Given the description of an element on the screen output the (x, y) to click on. 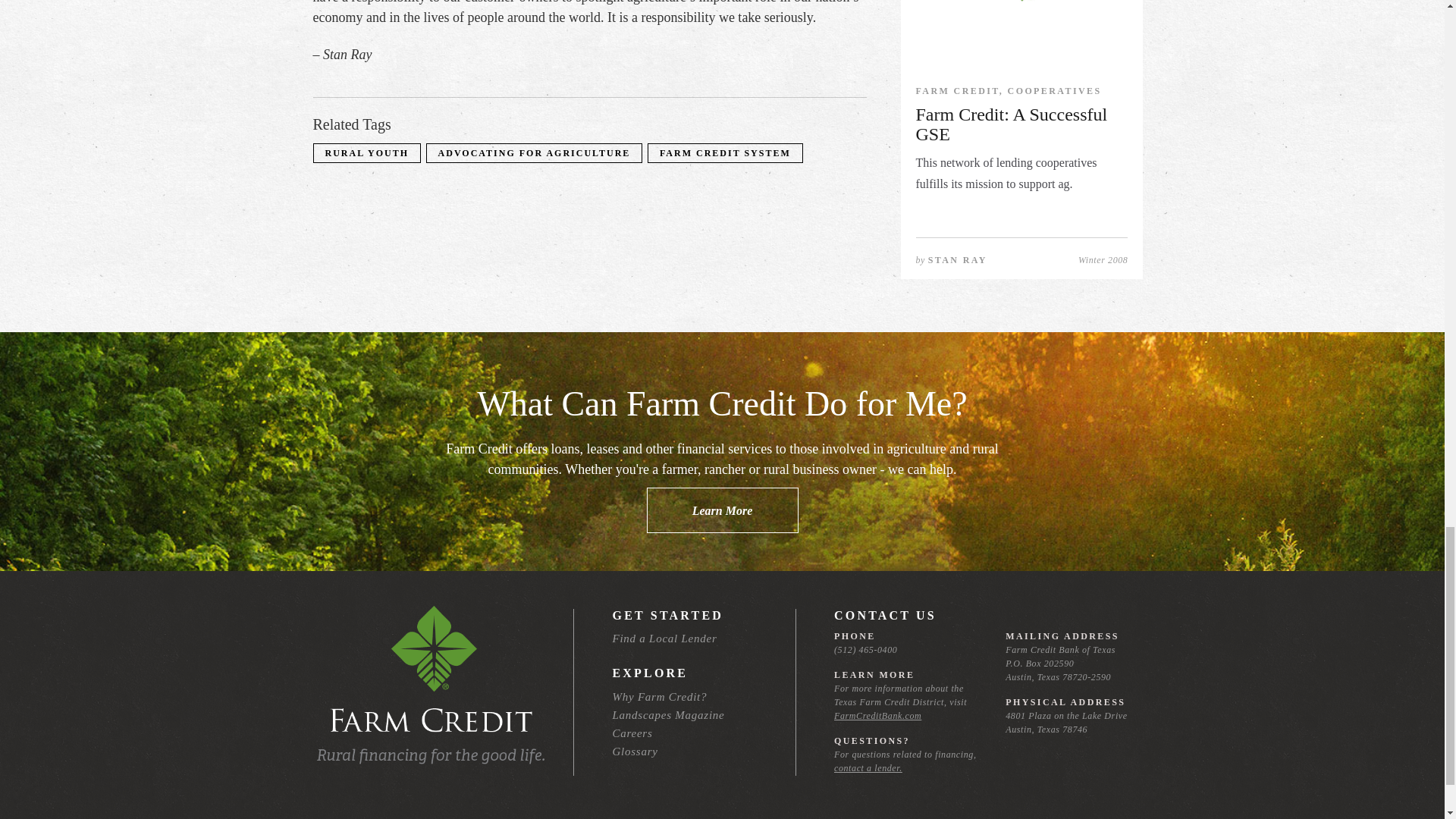
ADVOCATING FOR AGRICULTURE (534, 153)
Glossary (634, 751)
contact a lender. (868, 767)
Learn More (721, 510)
Why Farm Credit? (658, 696)
FarmCreditBank.com (877, 715)
FARM CREDIT SYSTEM (724, 153)
RURAL YOUTH (366, 153)
Find a Local Lender (663, 638)
Careers (631, 733)
